Given the description of an element on the screen output the (x, y) to click on. 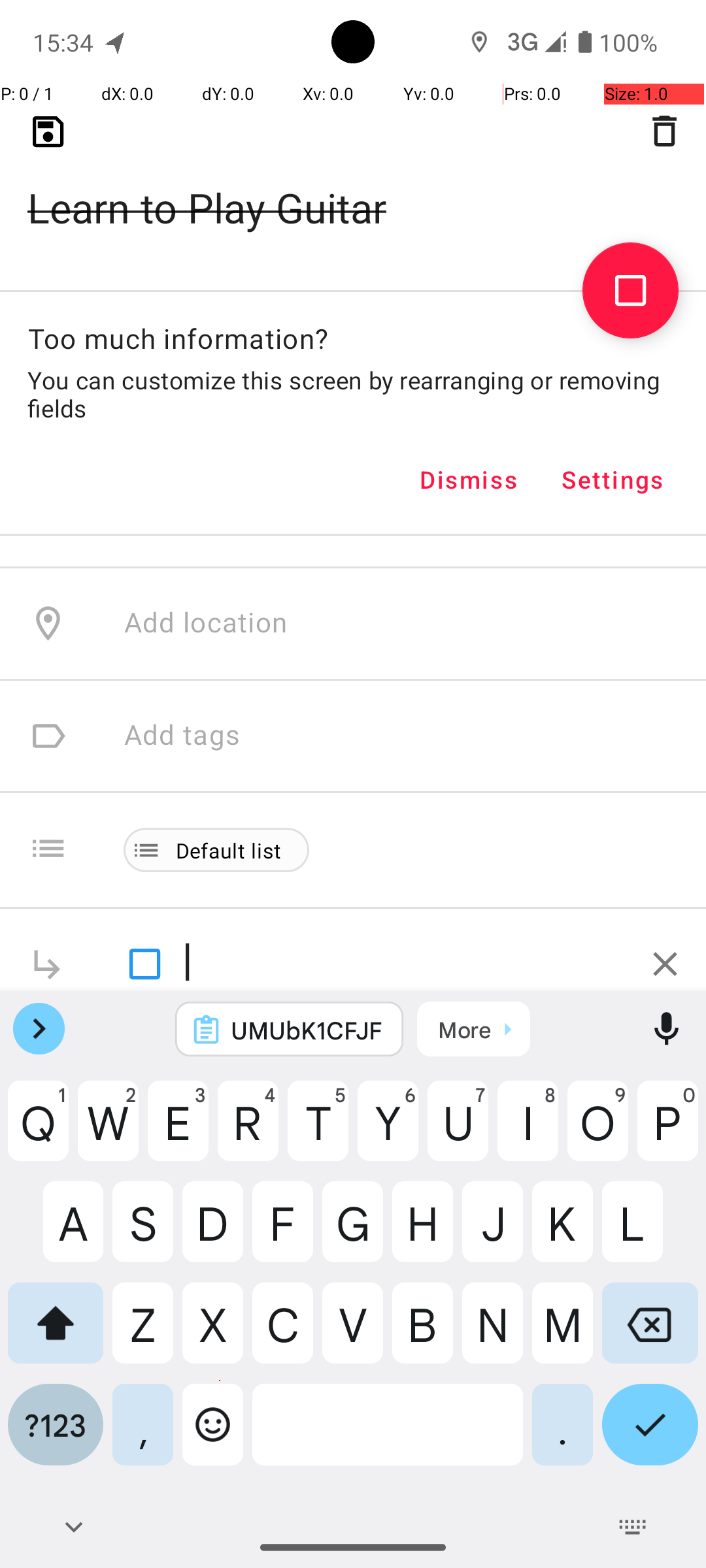
Week before due 16:53 Element type: android.widget.TextView (272, 173)
